Given the description of an element on the screen output the (x, y) to click on. 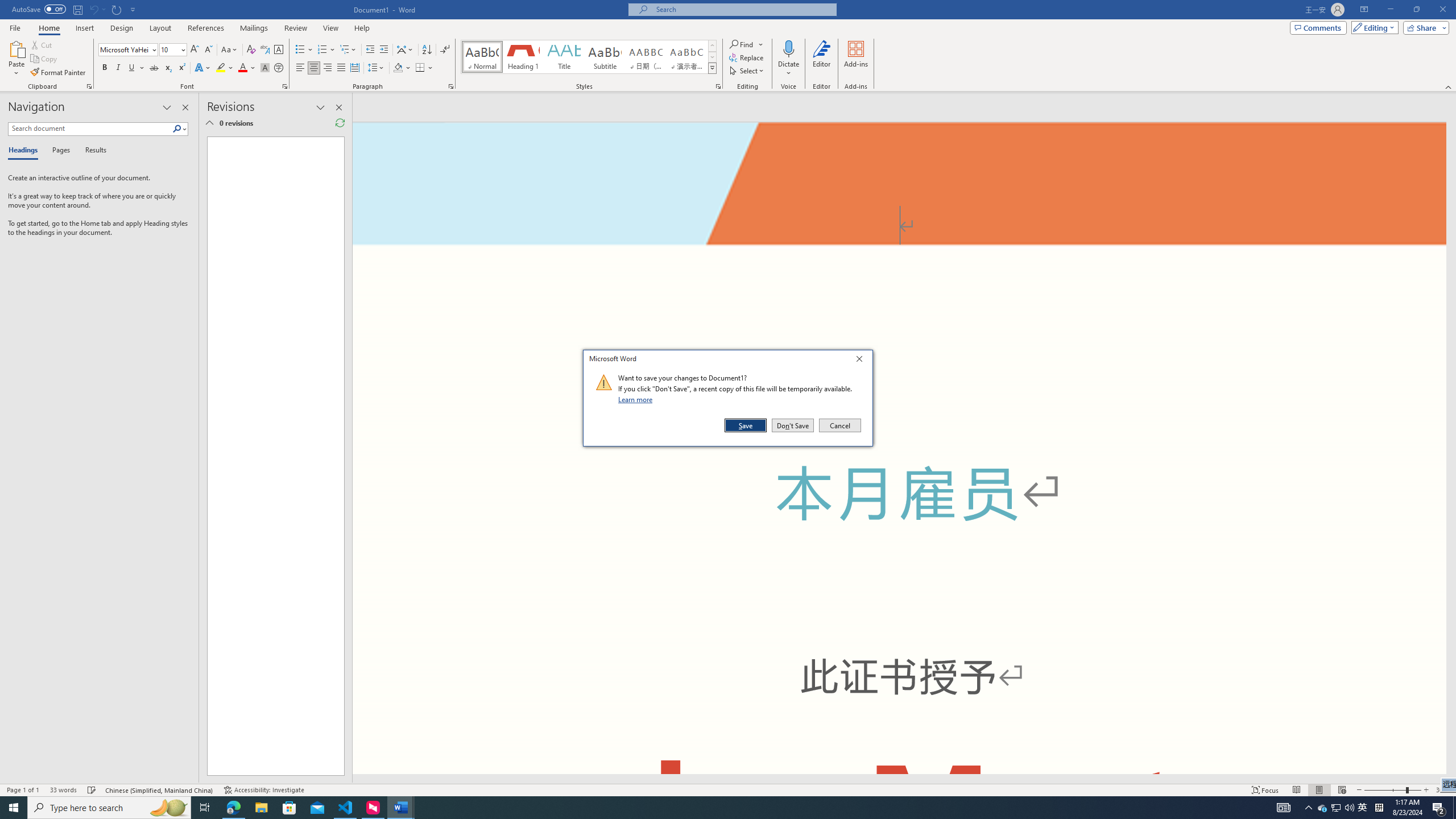
Visual Studio Code - 1 running window (345, 807)
Search document (89, 128)
Show Detailed Summary (209, 122)
Repeat Doc Close (117, 9)
Title (564, 56)
